Given the description of an element on the screen output the (x, y) to click on. 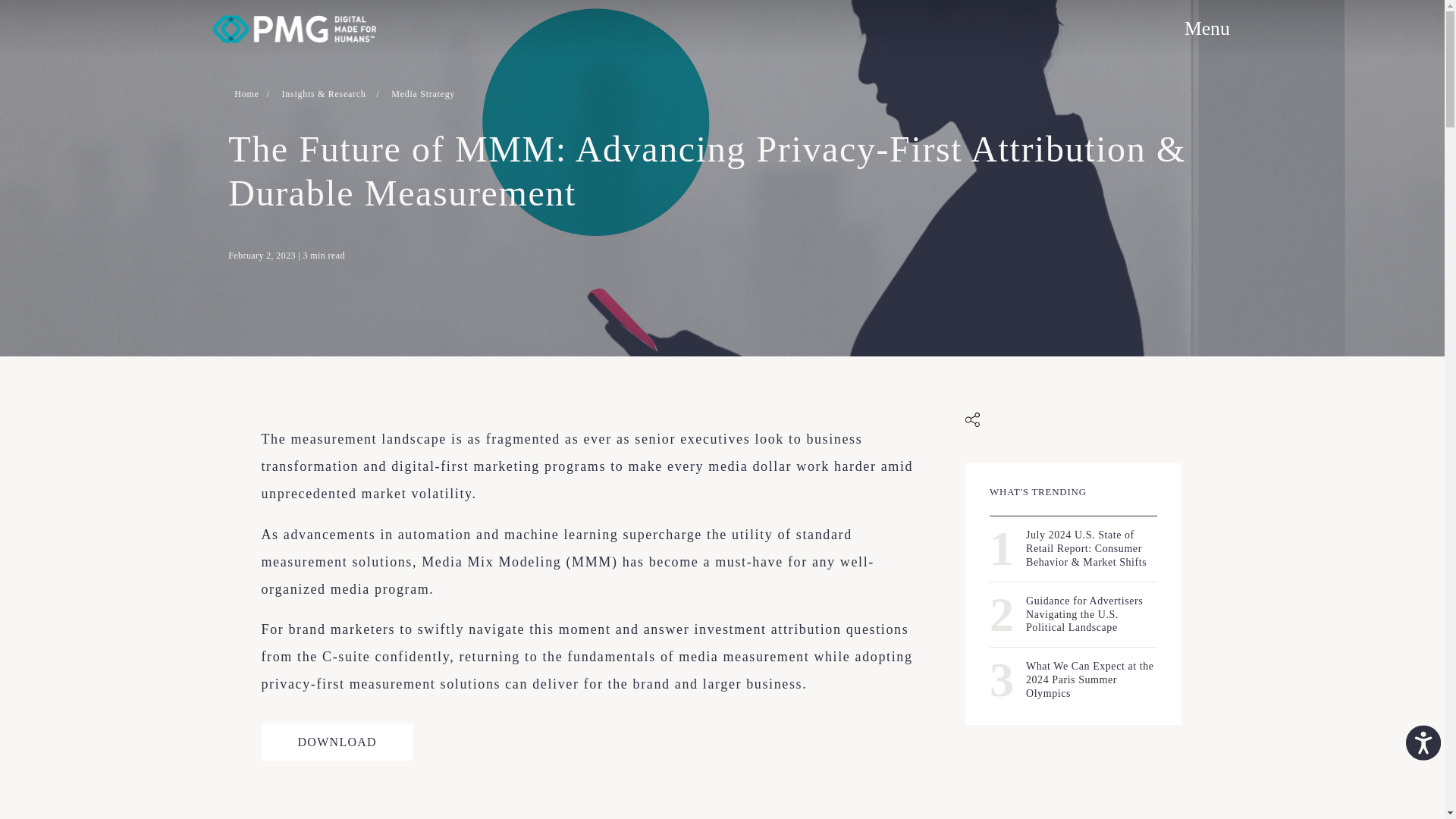
DOWNLOAD (336, 741)
Go to home page (298, 29)
Menu (1073, 680)
Home (1207, 28)
Go to Home (251, 94)
Go to Media Strategy (251, 94)
Media Strategy (423, 94)
